Given the description of an element on the screen output the (x, y) to click on. 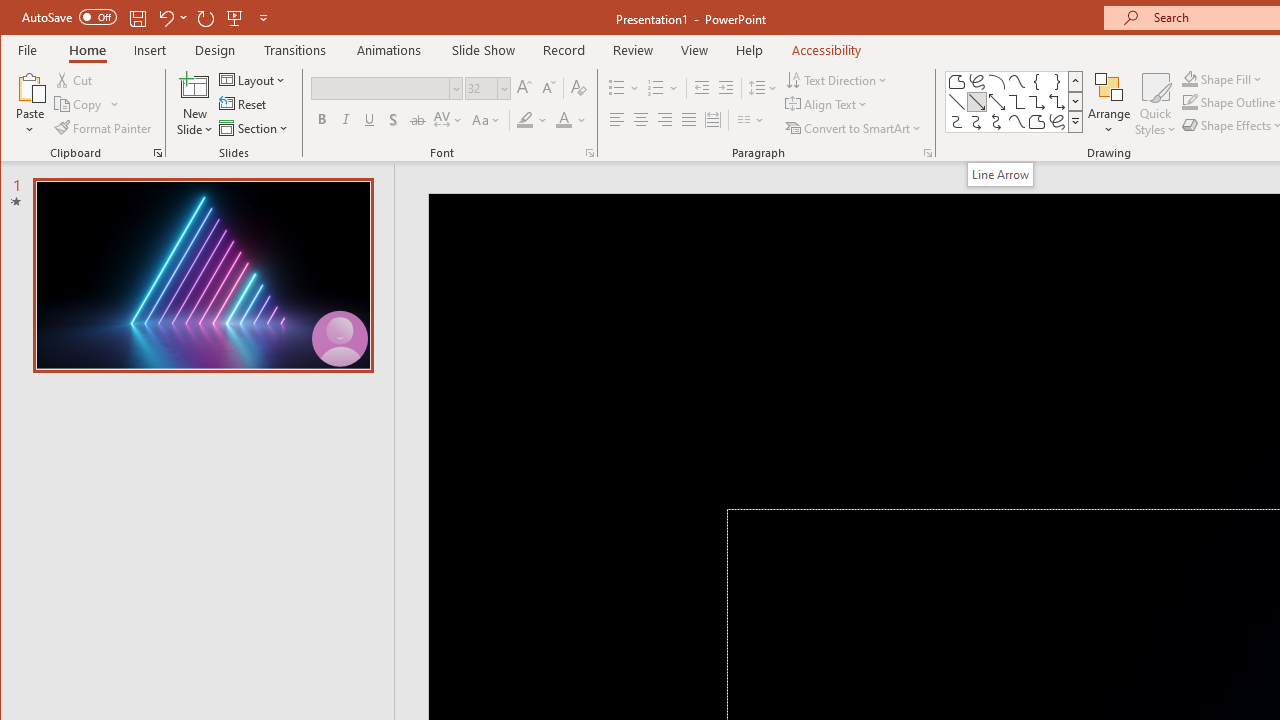
Connector: Curved (956, 121)
